Given the description of an element on the screen output the (x, y) to click on. 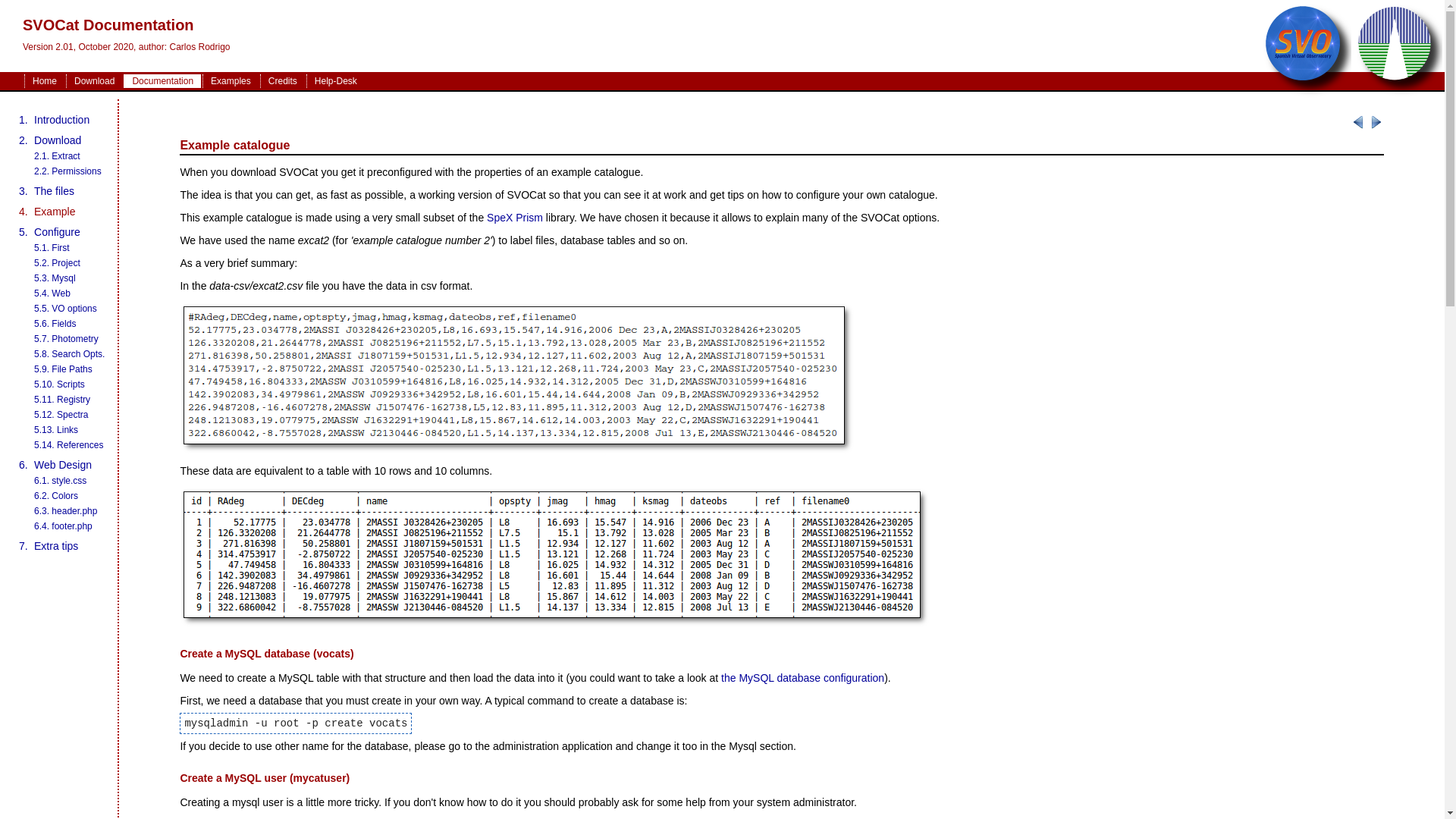
6.4. footer.php (63, 525)
Download (94, 81)
Extra tips (55, 545)
The files (53, 191)
Example (54, 211)
Credits (282, 81)
5.8. Search Opts. (68, 353)
6.1. style.css (59, 480)
Download (57, 140)
2.1. Extract (56, 155)
5.6. Fields (54, 323)
Home (44, 81)
5.4. Web (51, 293)
5.3. Mysql (54, 277)
5.11. Registry (61, 398)
